Given the description of an element on the screen output the (x, y) to click on. 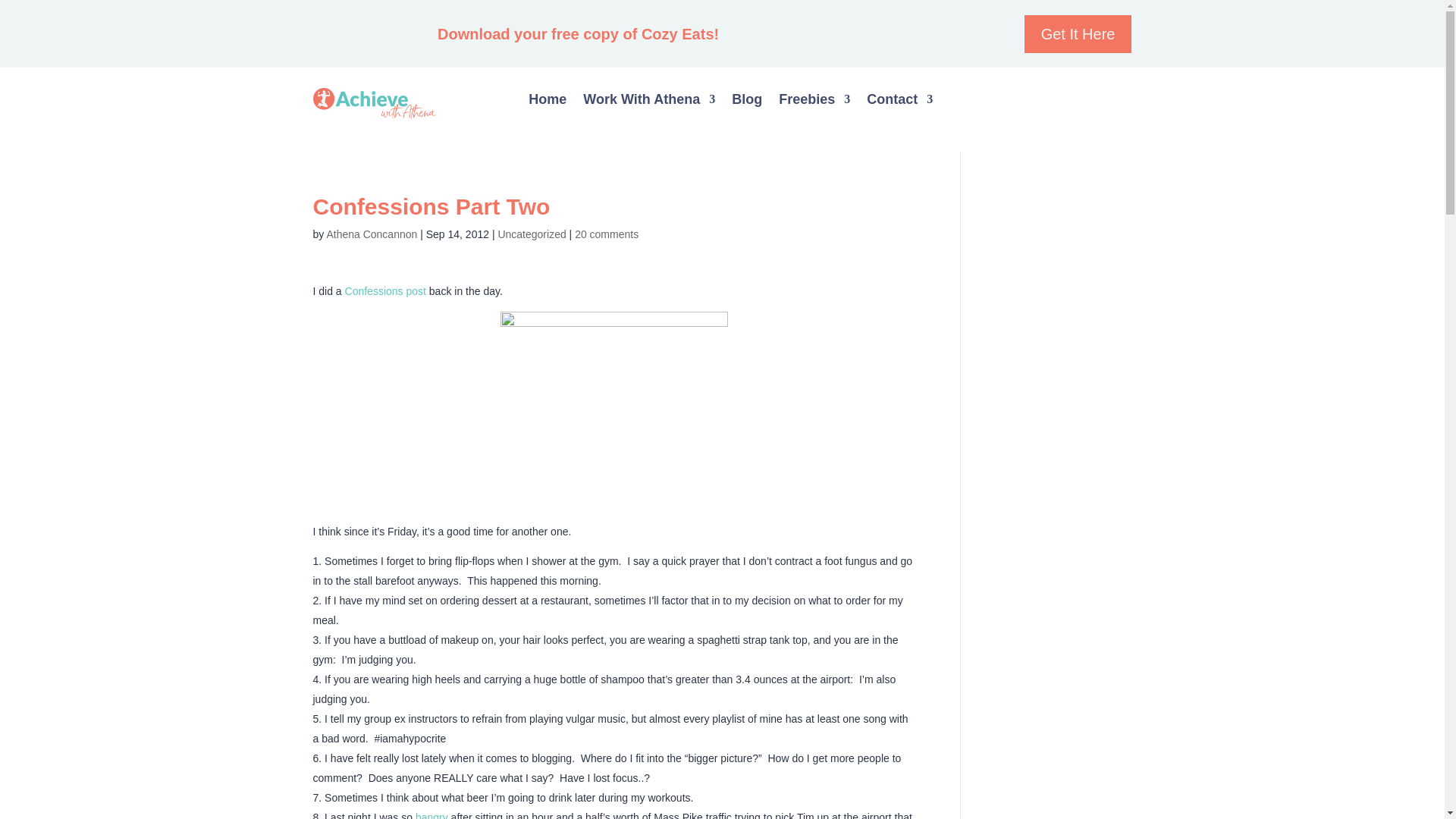
Get It Here (1078, 34)
Home (547, 102)
Posts by Athena Concannon (371, 234)
Confessions (614, 398)
Contact (899, 102)
Freebies (814, 102)
Blog (746, 102)
Work With Athena (648, 102)
